Given the description of an element on the screen output the (x, y) to click on. 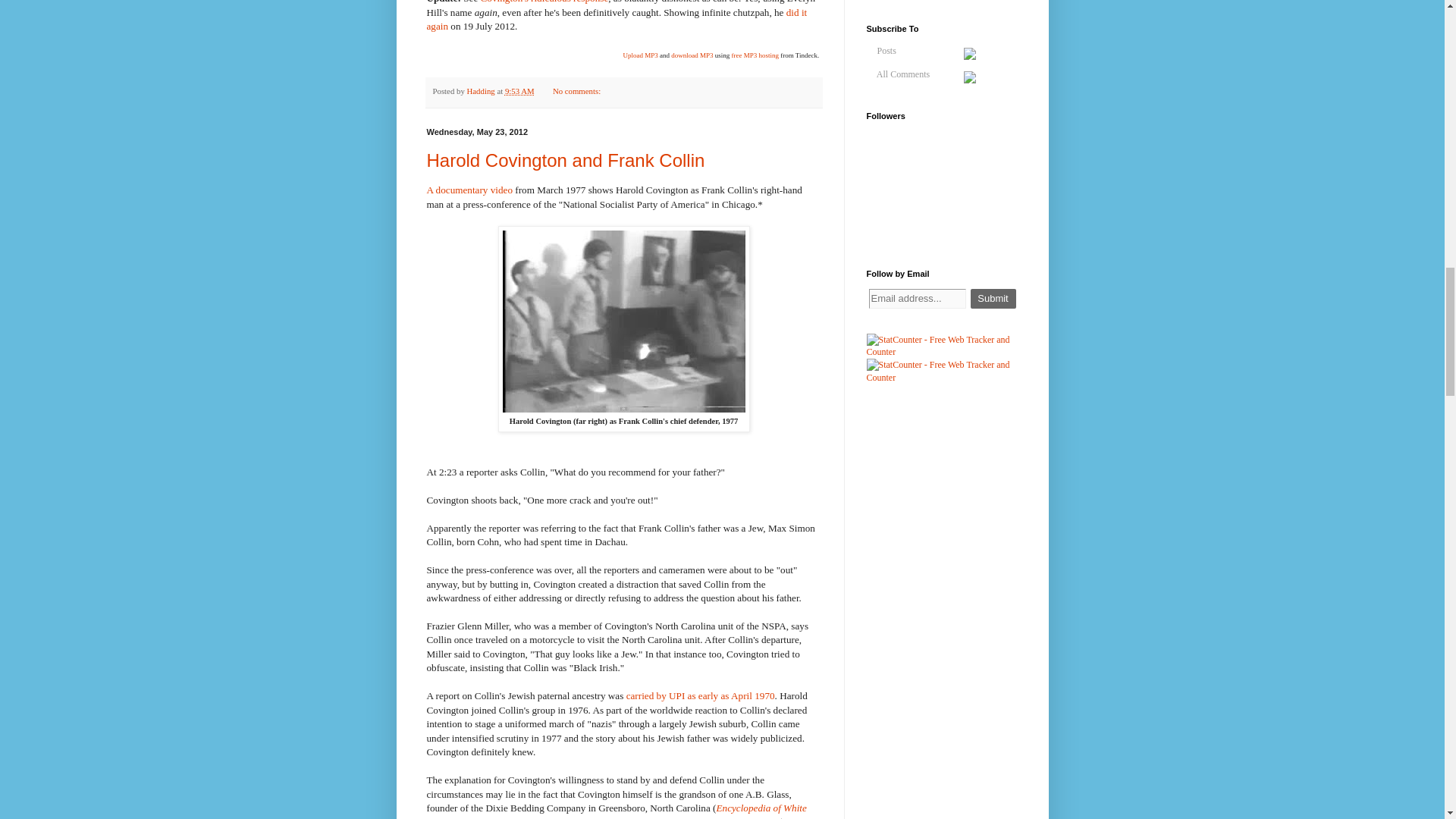
download mp3 (692, 54)
Covington's ridiculous response (544, 2)
BlogThis! (648, 92)
author profile (482, 90)
Upload MP3 (640, 54)
Free MP3 hosting (754, 54)
Submit (993, 298)
Email This (634, 92)
carried by UPI as early as April 1970 (700, 695)
download MP3 (692, 54)
Upload MP3 (640, 54)
Email This (634, 92)
Share to Facebook (676, 92)
did it again (616, 18)
Share to Pinterest (691, 92)
